Given the description of an element on the screen output the (x, y) to click on. 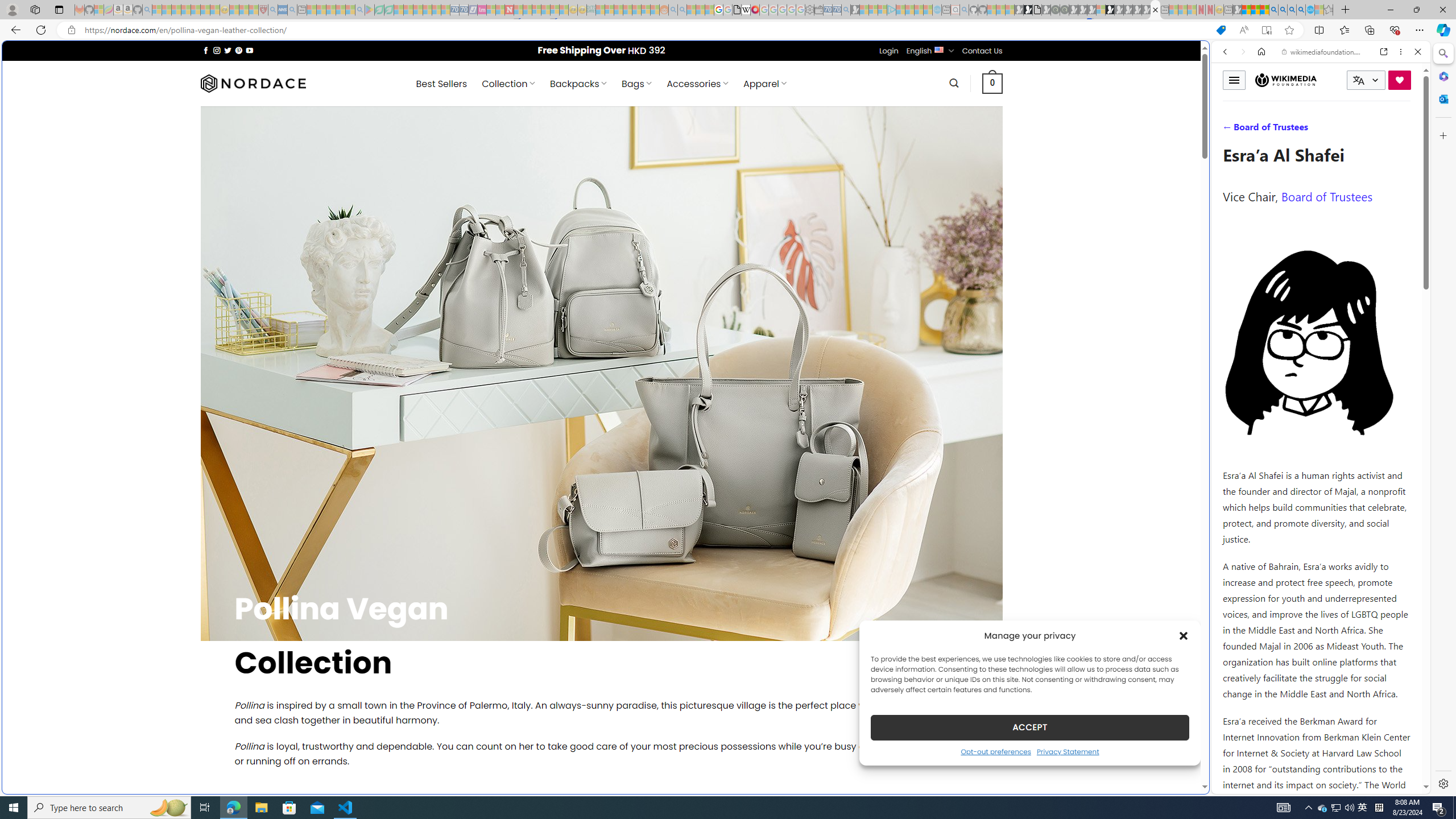
Pets - MSN - Sleeping (340, 9)
google - Search - Sleeping (359, 9)
Target page - Wikipedia (745, 9)
English (938, 49)
